Given the description of an element on the screen output the (x, y) to click on. 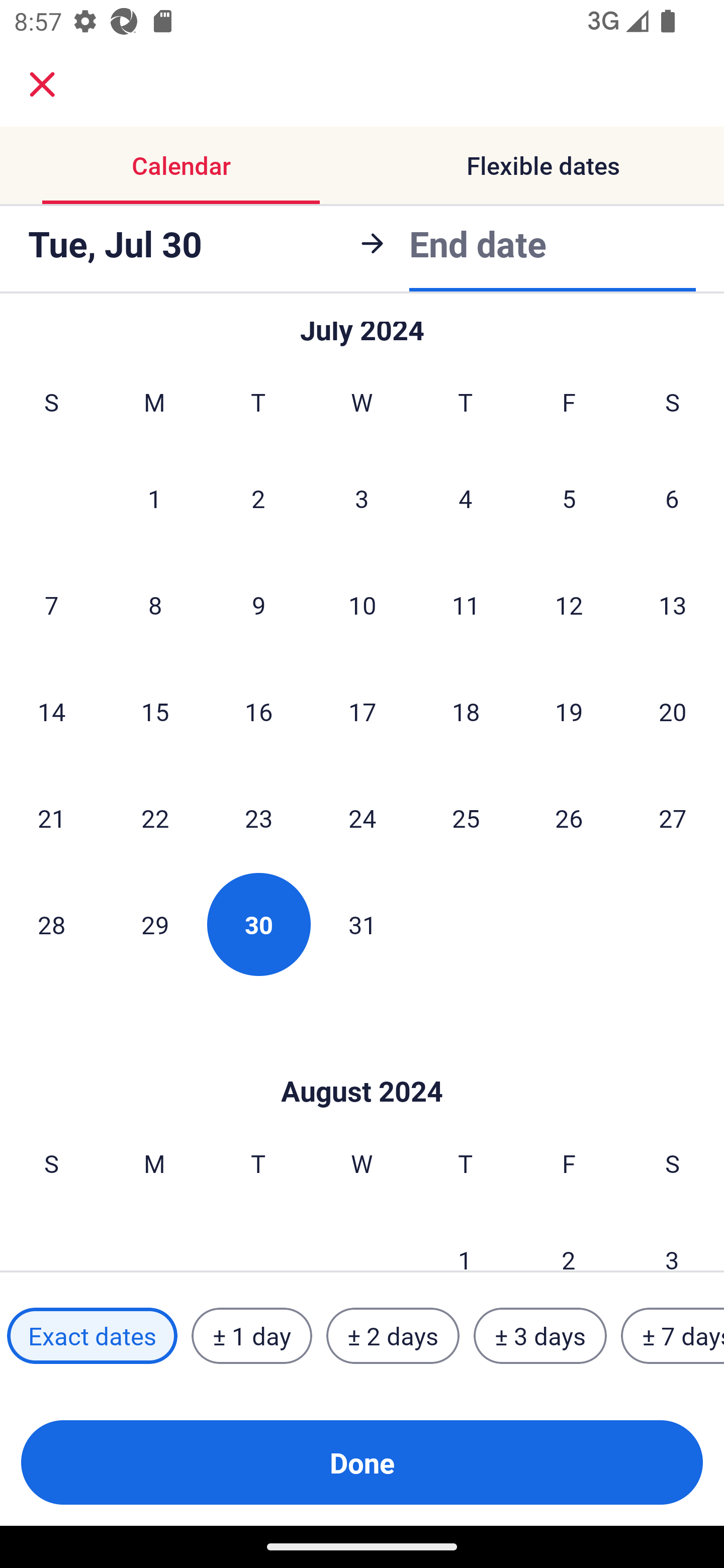
close. (42, 84)
Flexible dates (542, 164)
End date (477, 240)
1 Monday, July 1, 2024 (154, 498)
2 Tuesday, July 2, 2024 (257, 498)
3 Wednesday, July 3, 2024 (361, 498)
4 Thursday, July 4, 2024 (465, 498)
5 Friday, July 5, 2024 (568, 498)
6 Saturday, July 6, 2024 (672, 498)
7 Sunday, July 7, 2024 (51, 604)
8 Monday, July 8, 2024 (155, 604)
9 Tuesday, July 9, 2024 (258, 604)
10 Wednesday, July 10, 2024 (362, 604)
11 Thursday, July 11, 2024 (465, 604)
12 Friday, July 12, 2024 (569, 604)
13 Saturday, July 13, 2024 (672, 604)
14 Sunday, July 14, 2024 (51, 711)
15 Monday, July 15, 2024 (155, 711)
16 Tuesday, July 16, 2024 (258, 711)
17 Wednesday, July 17, 2024 (362, 711)
18 Thursday, July 18, 2024 (465, 711)
19 Friday, July 19, 2024 (569, 711)
20 Saturday, July 20, 2024 (672, 711)
21 Sunday, July 21, 2024 (51, 817)
22 Monday, July 22, 2024 (155, 817)
23 Tuesday, July 23, 2024 (258, 817)
24 Wednesday, July 24, 2024 (362, 817)
25 Thursday, July 25, 2024 (465, 817)
26 Friday, July 26, 2024 (569, 817)
27 Saturday, July 27, 2024 (672, 817)
28 Sunday, July 28, 2024 (51, 924)
29 Monday, July 29, 2024 (155, 924)
31 Wednesday, July 31, 2024 (362, 924)
Skip to Done (362, 1061)
1 Thursday, August 1, 2024 (464, 1239)
2 Friday, August 2, 2024 (568, 1239)
3 Saturday, August 3, 2024 (672, 1239)
Exact dates (92, 1335)
± 1 day (251, 1335)
± 2 days (392, 1335)
± 3 days (539, 1335)
± 7 days (672, 1335)
Done (361, 1462)
